Given the description of an element on the screen output the (x, y) to click on. 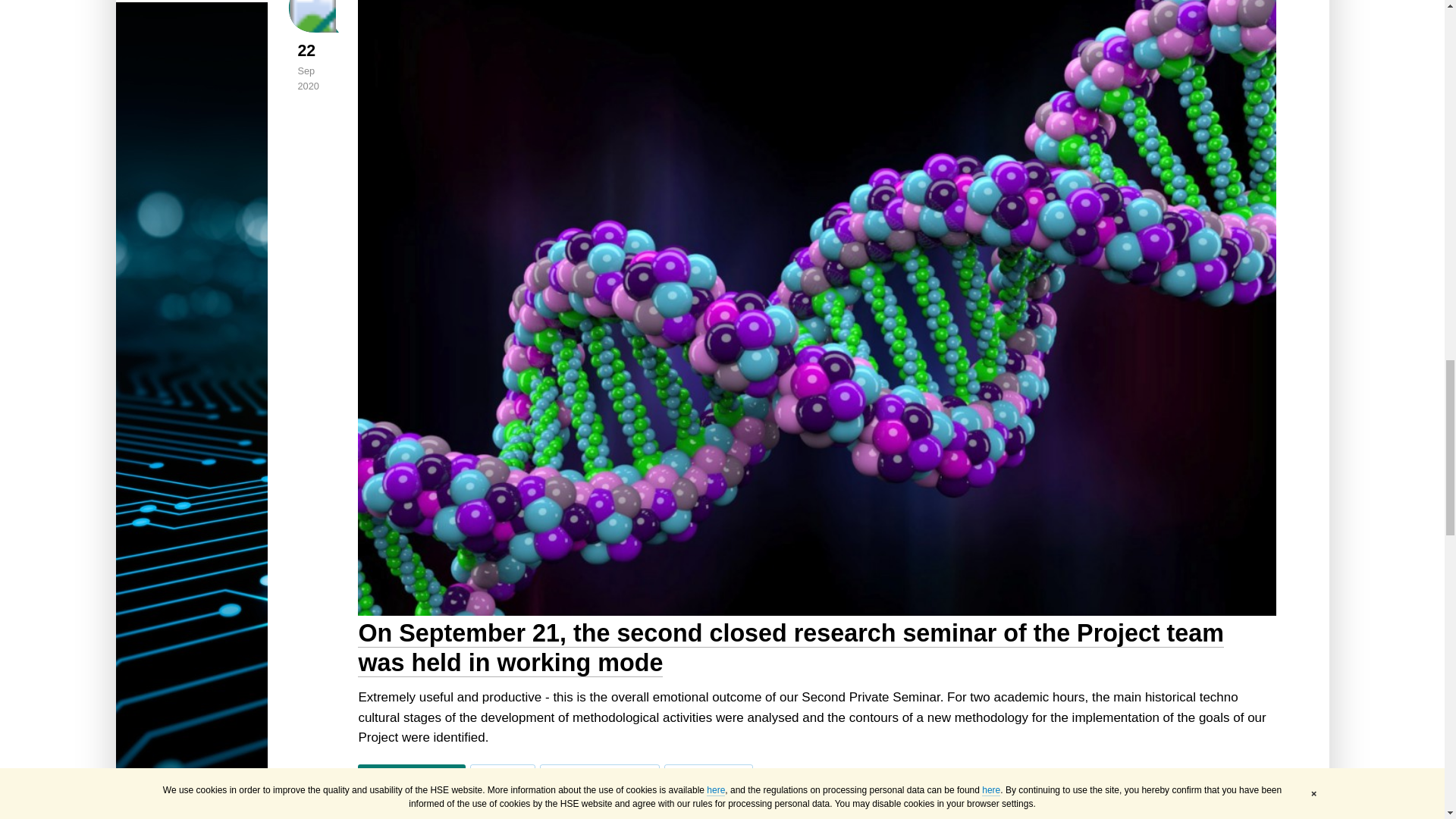
research projects (707, 774)
research projects (707, 774)
new at HSE (502, 774)
new at HSE (502, 774)
